Given the description of an element on the screen output the (x, y) to click on. 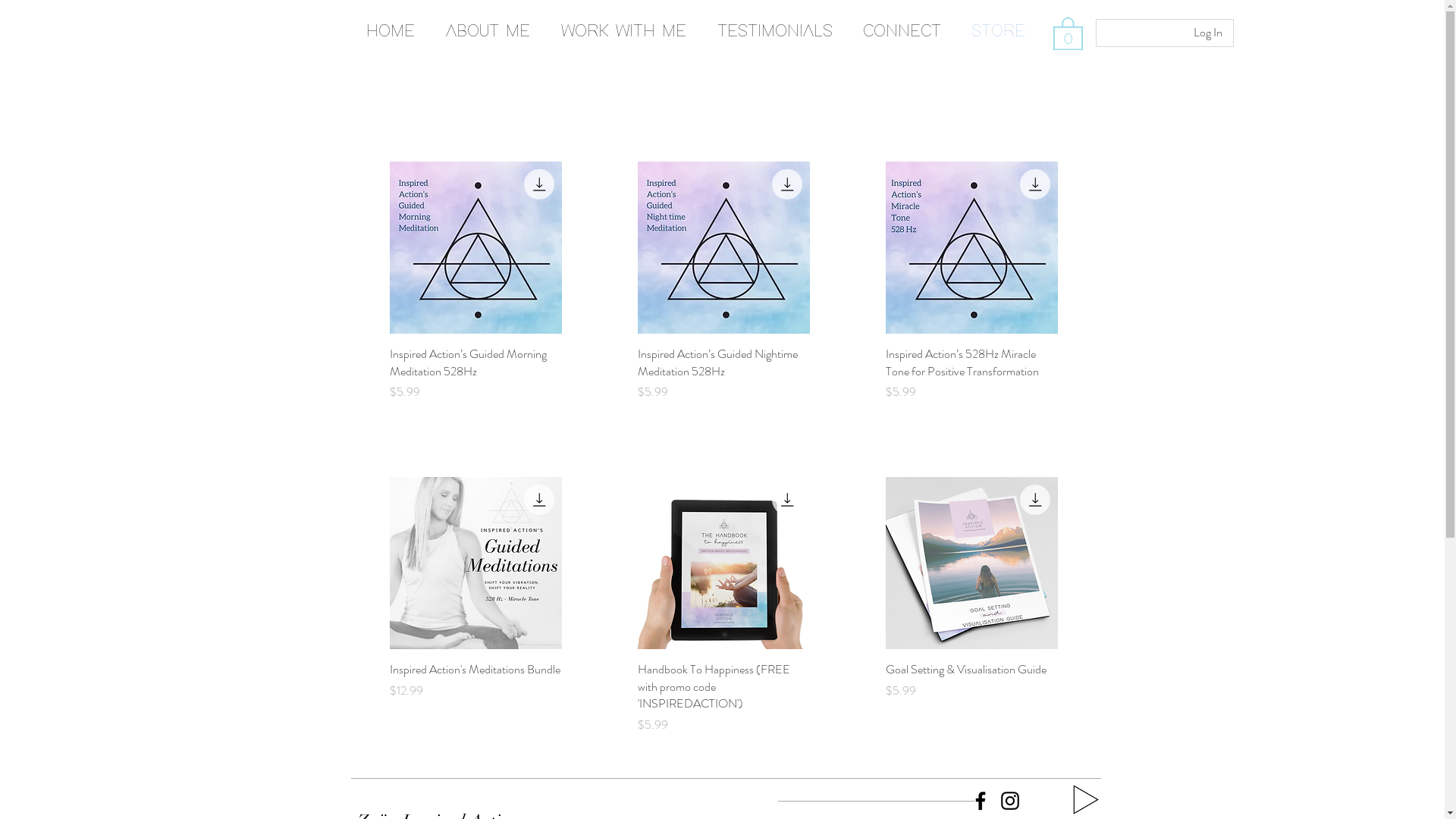
ABOUT ME Element type: text (488, 32)
0 Element type: text (1067, 32)
CONNECT Element type: text (901, 32)
WORK WITH ME Element type: text (624, 32)
HOME Element type: text (389, 32)
STORE Element type: text (997, 32)
TESTIMONIALS Element type: text (774, 32)
Inspired Action's Meditations Bundle
Price
$12.99 Element type: text (475, 697)
Goal Setting & Visualisation Guide
Price
$5.99 Element type: text (971, 697)
Log In Element type: text (1208, 32)
